Given the description of an element on the screen output the (x, y) to click on. 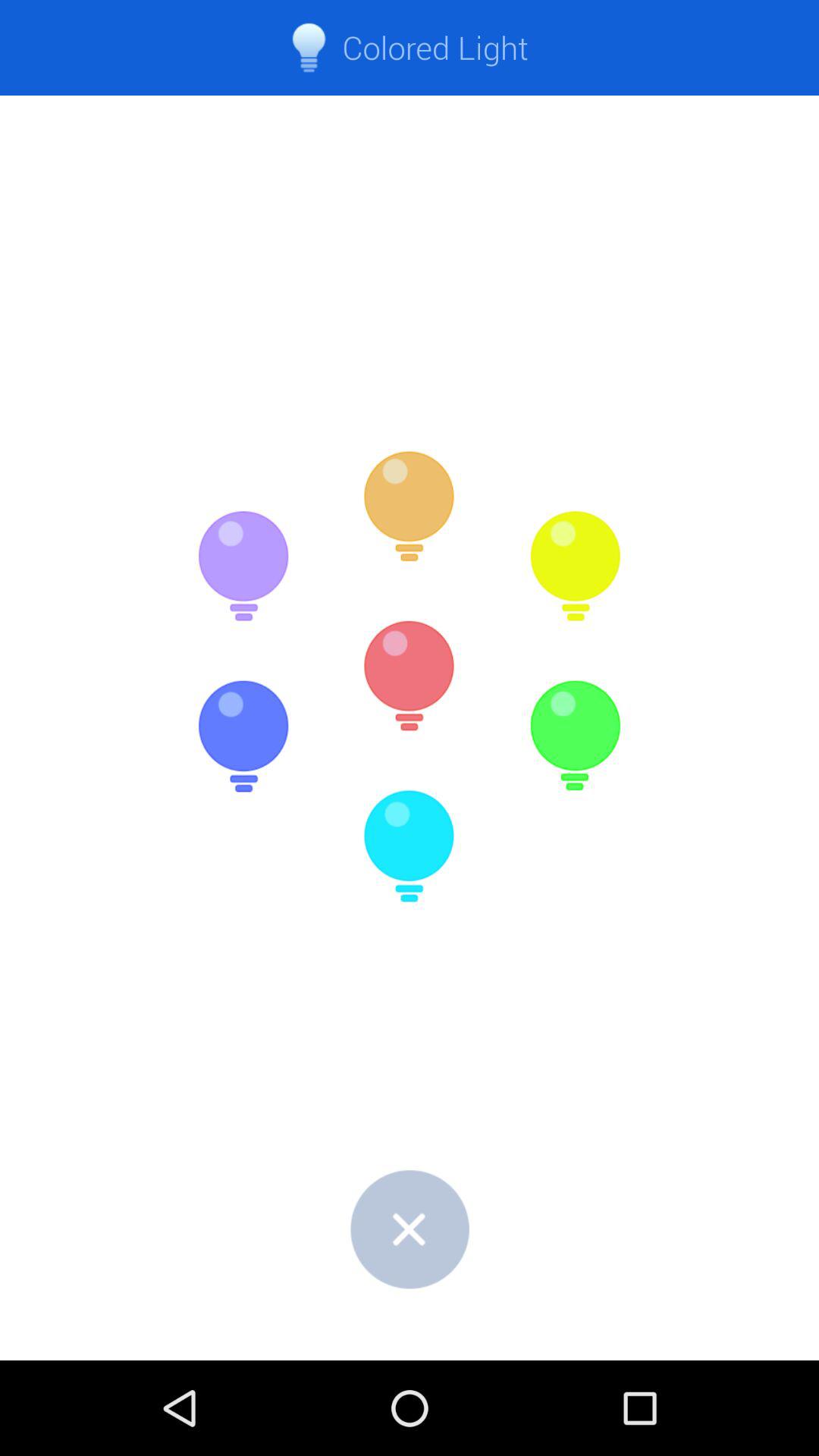
go to close (409, 1228)
